Given the description of an element on the screen output the (x, y) to click on. 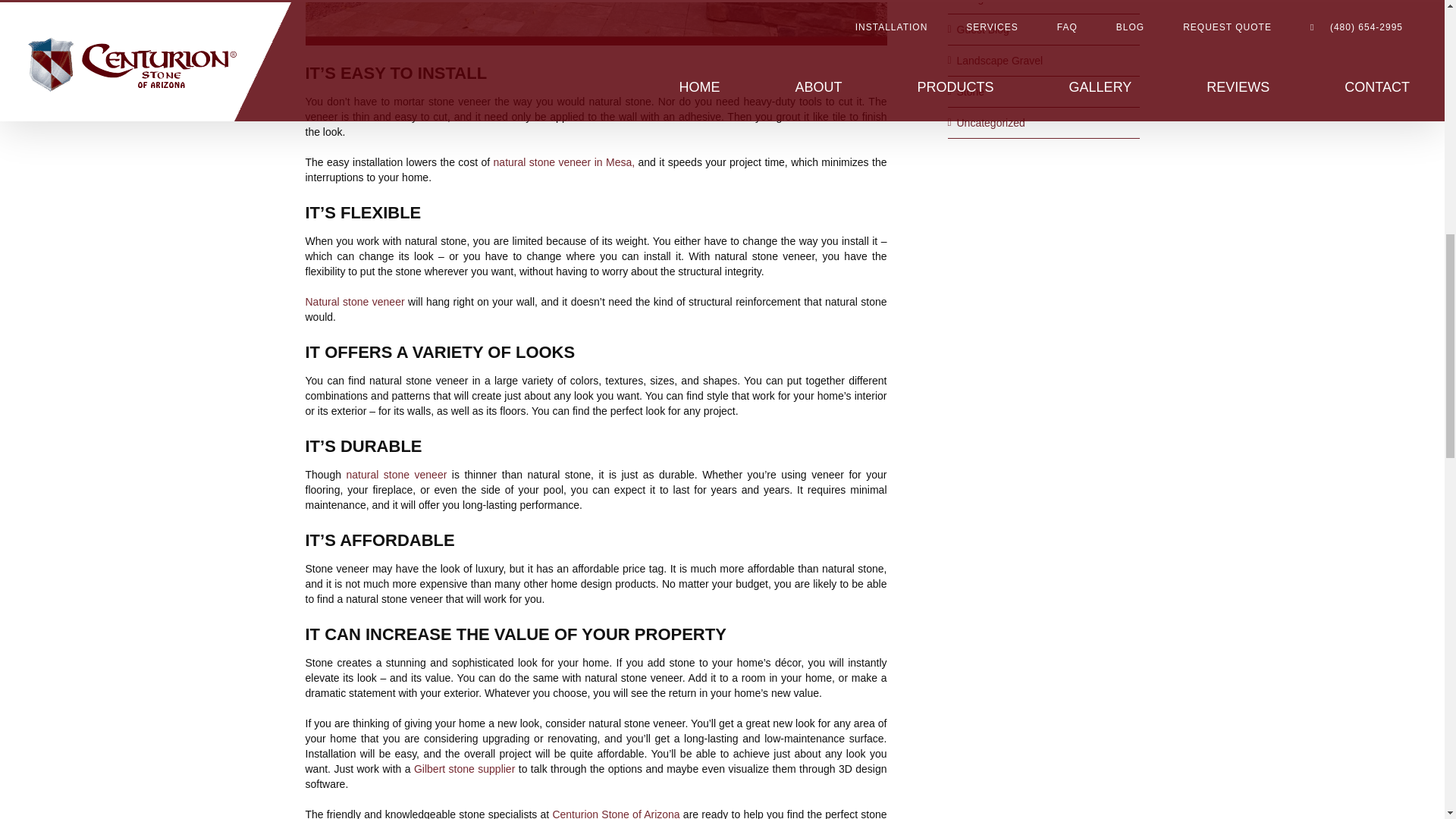
natural stone veneer (396, 474)
natural stone veneer in Mesa, (563, 162)
Natural stone veneer (354, 301)
Gilbert stone supplier (464, 768)
